Given the description of an element on the screen output the (x, y) to click on. 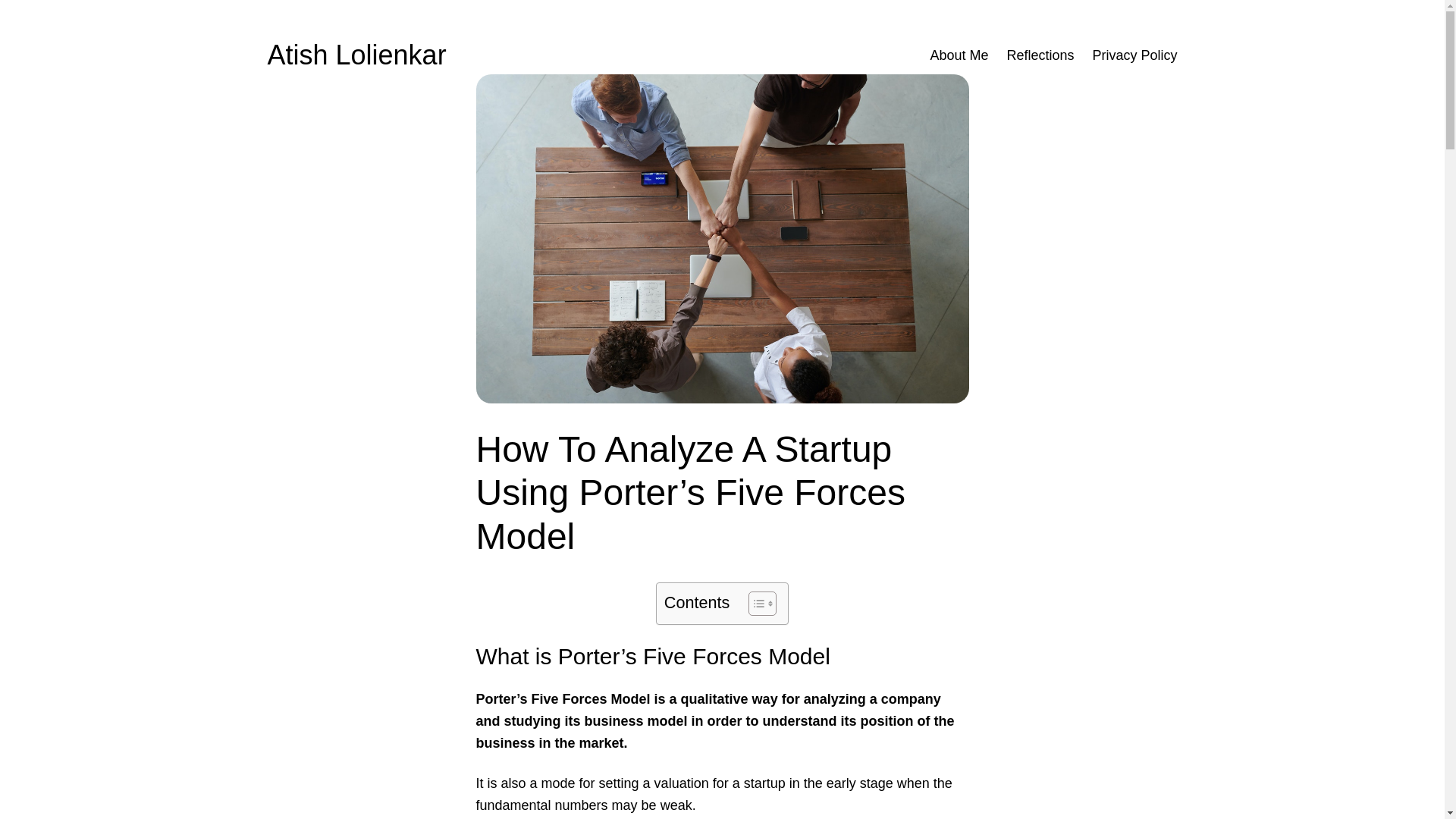
Privacy Policy (1134, 55)
Atish Lolienkar (355, 54)
About Me (959, 55)
Reflections (1040, 55)
